Given the description of an element on the screen output the (x, y) to click on. 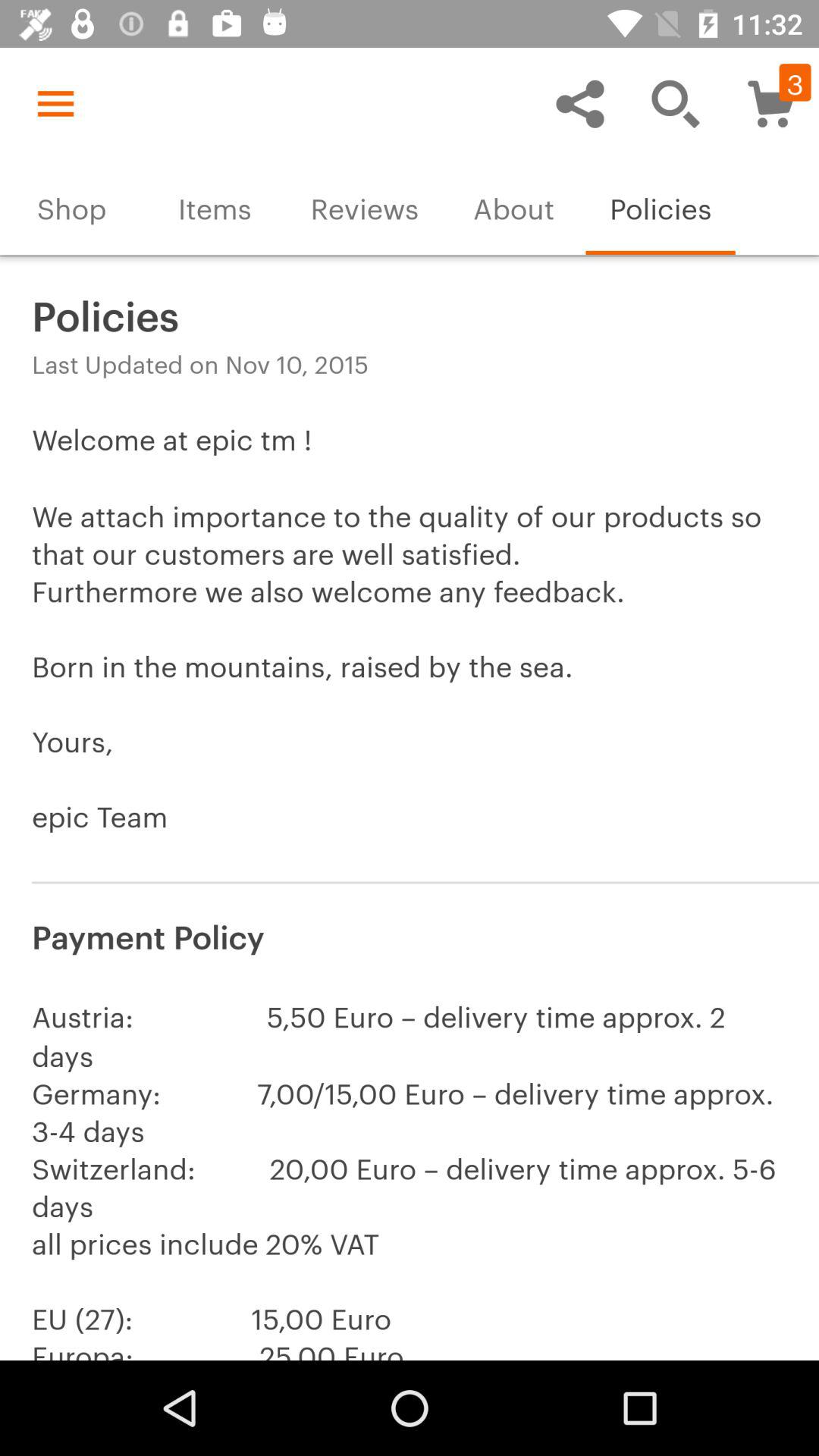
choose the item below welcome at epic icon (409, 934)
